Given the description of an element on the screen output the (x, y) to click on. 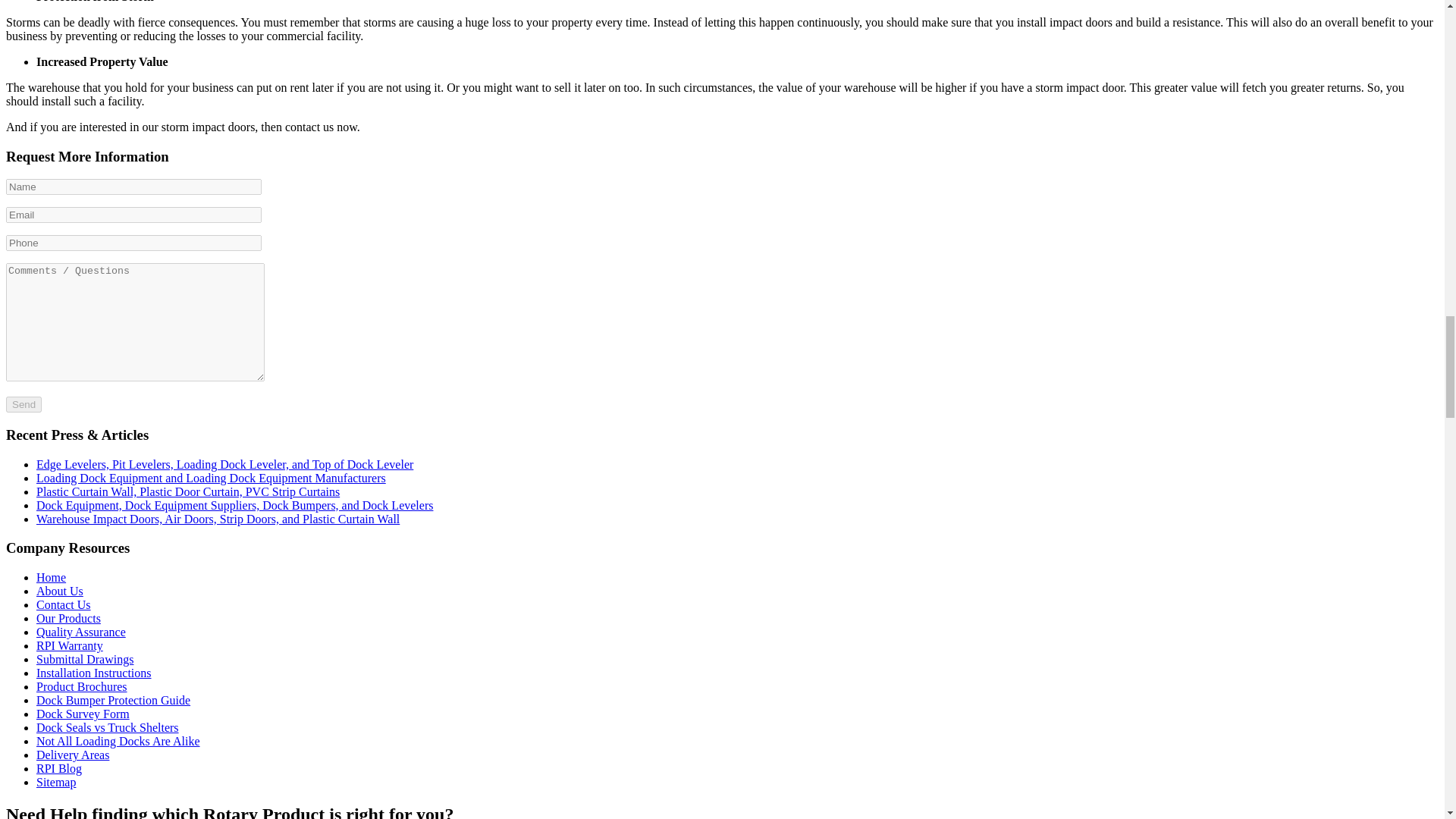
Send (23, 404)
